Given the description of an element on the screen output the (x, y) to click on. 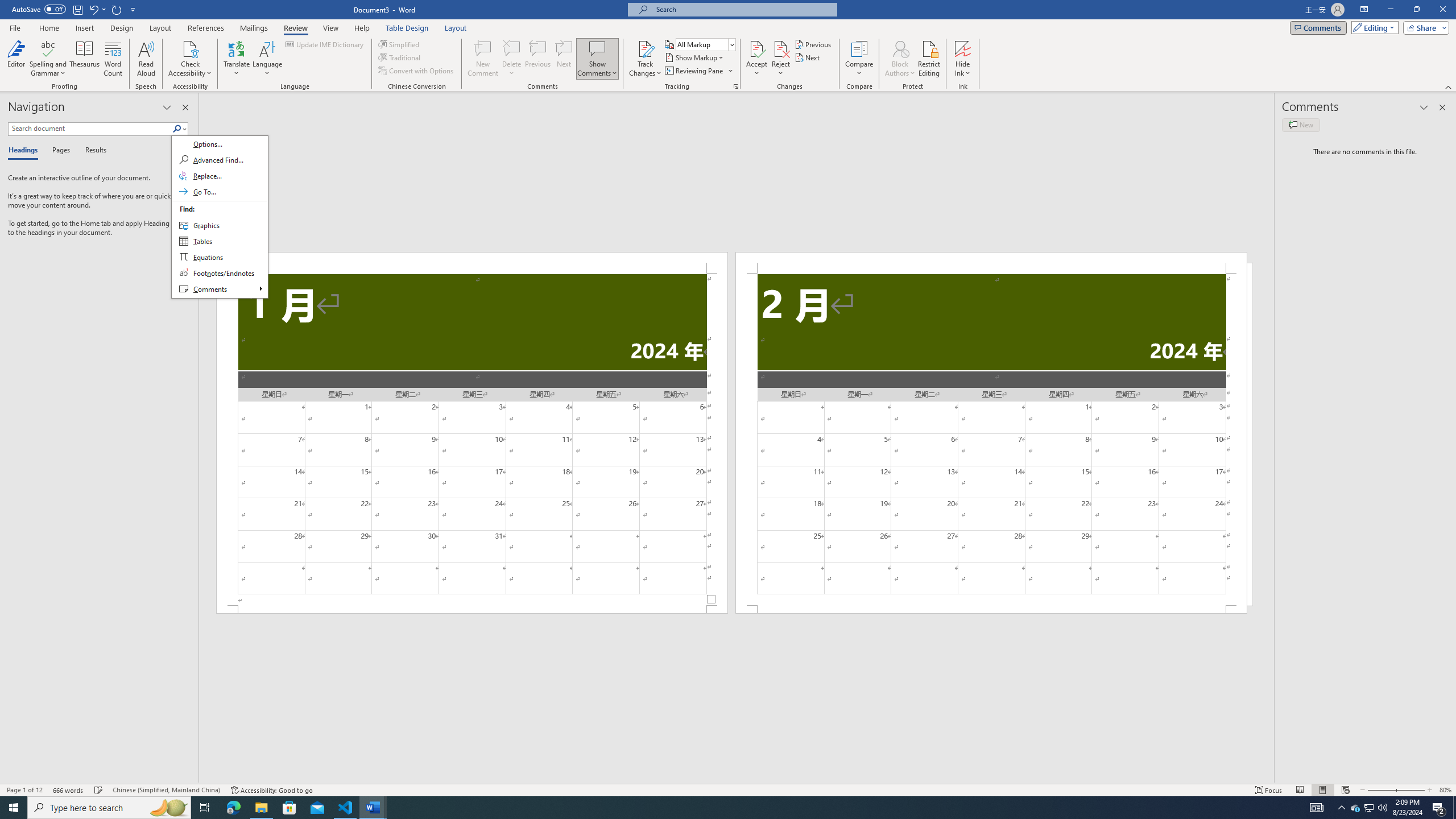
Language (267, 58)
Reviewing Pane (698, 69)
Restrict Editing (929, 58)
Block Authors (900, 58)
Next (808, 56)
Word - 2 running windows (373, 807)
Show Comments (597, 48)
Block Authors (900, 48)
Undo Increase Indent (96, 9)
Check Accessibility (189, 58)
